Given the description of an element on the screen output the (x, y) to click on. 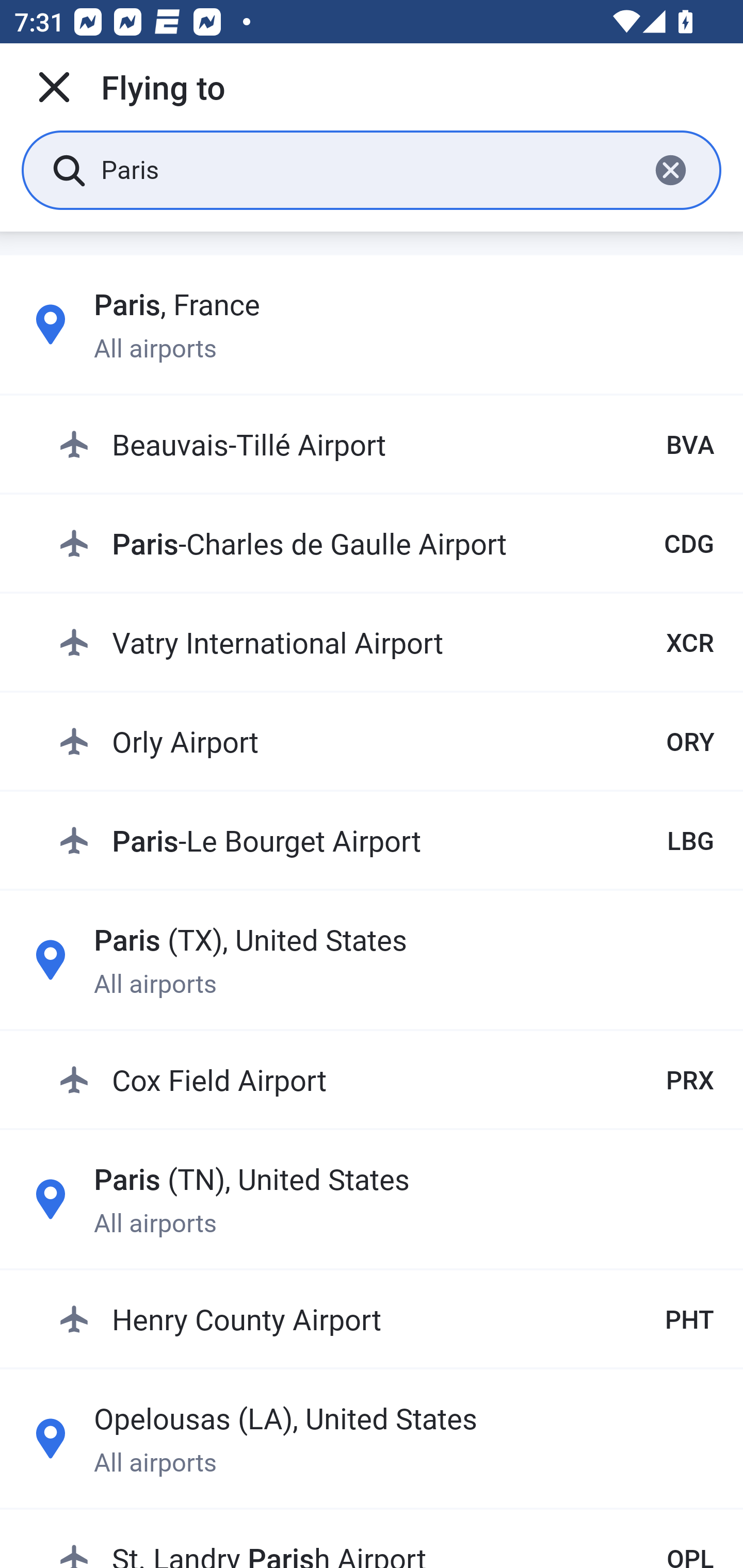
Paris (367, 169)
Paris, France All airports (371, 324)
Beauvais-Tillé Airport BVA (385, 444)
Paris-Charles de Gaulle Airport CDG (385, 543)
Vatry International Airport XCR (385, 641)
Orly Airport ORY (385, 740)
Paris-Le Bourget Airport LBG (385, 839)
Paris (TX), United States All airports (371, 960)
Cox Field Airport PRX (385, 1079)
Paris (TN), United States All airports (371, 1198)
Henry County Airport PHT (385, 1318)
Opelousas (LA), United States All airports (371, 1438)
St. Landry Parish Airport OPL (385, 1541)
